Given the description of an element on the screen output the (x, y) to click on. 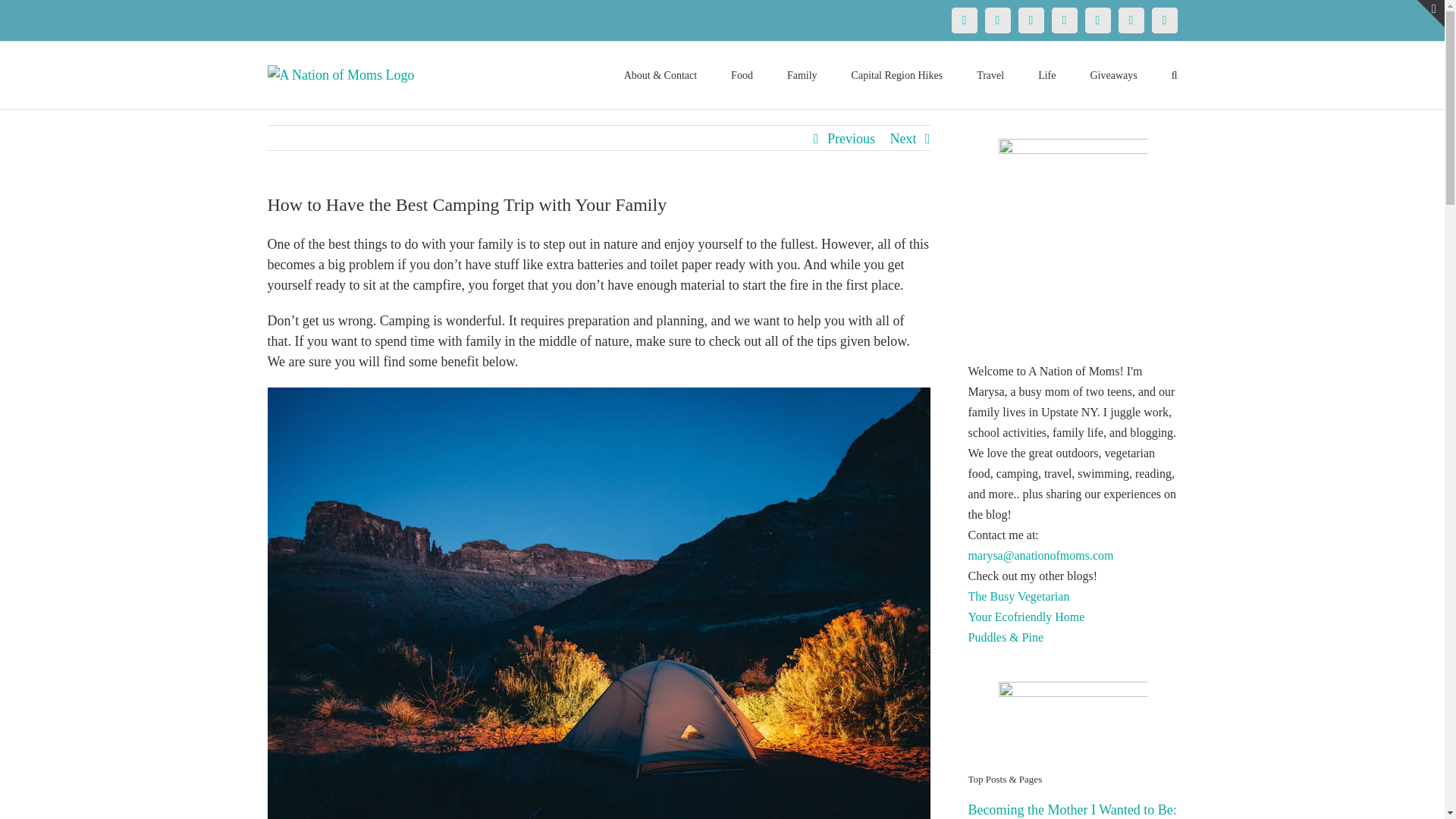
Email (1163, 20)
Twitter (997, 20)
Instagram (1064, 20)
Facebook (963, 20)
Instagram (1064, 20)
Capital Region Hikes (897, 74)
Twitter (997, 20)
Pinterest (1030, 20)
YouTube (1096, 20)
Pinterest (1030, 20)
